Given the description of an element on the screen output the (x, y) to click on. 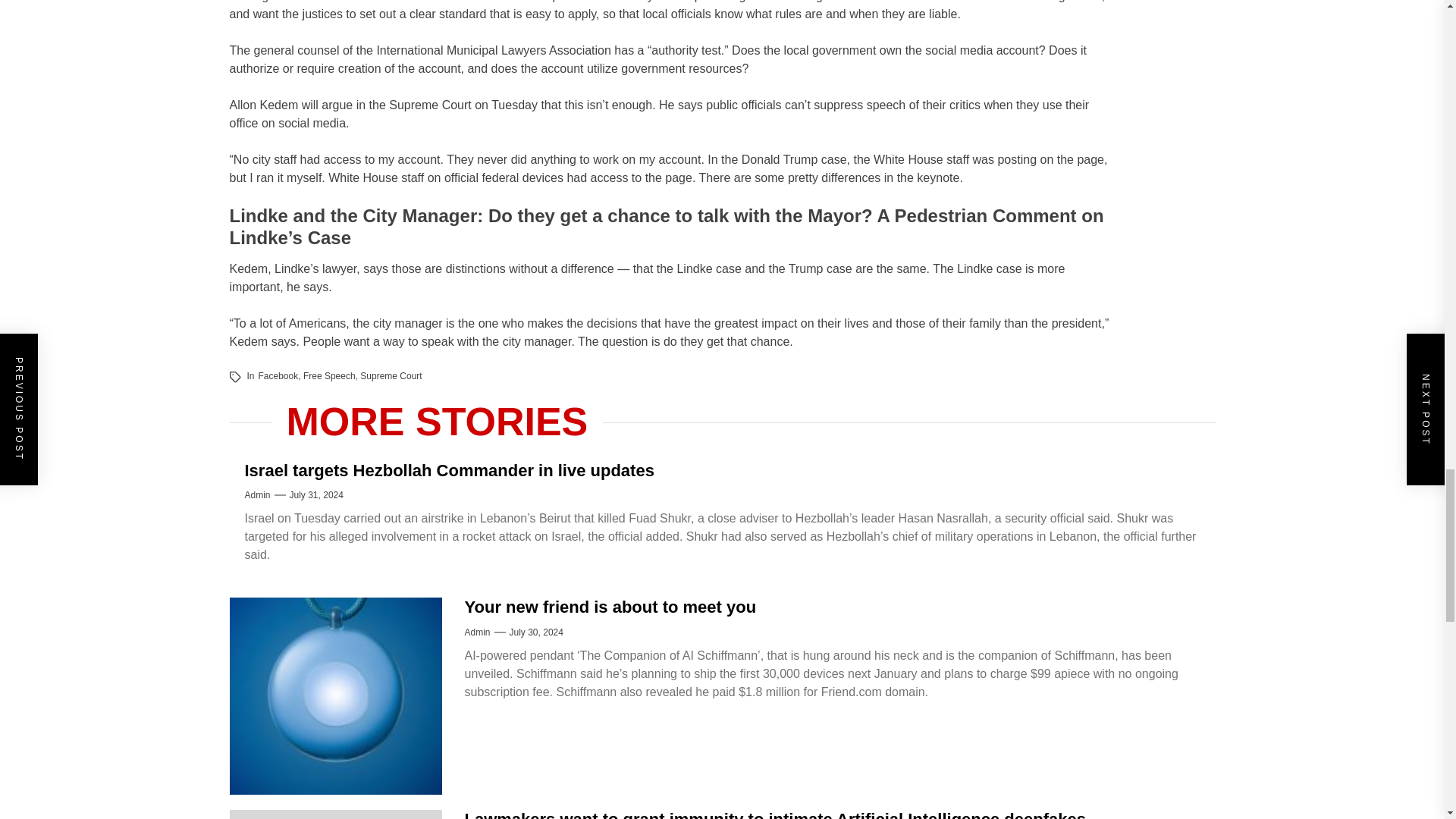
Facebook (278, 376)
